Given the description of an element on the screen output the (x, y) to click on. 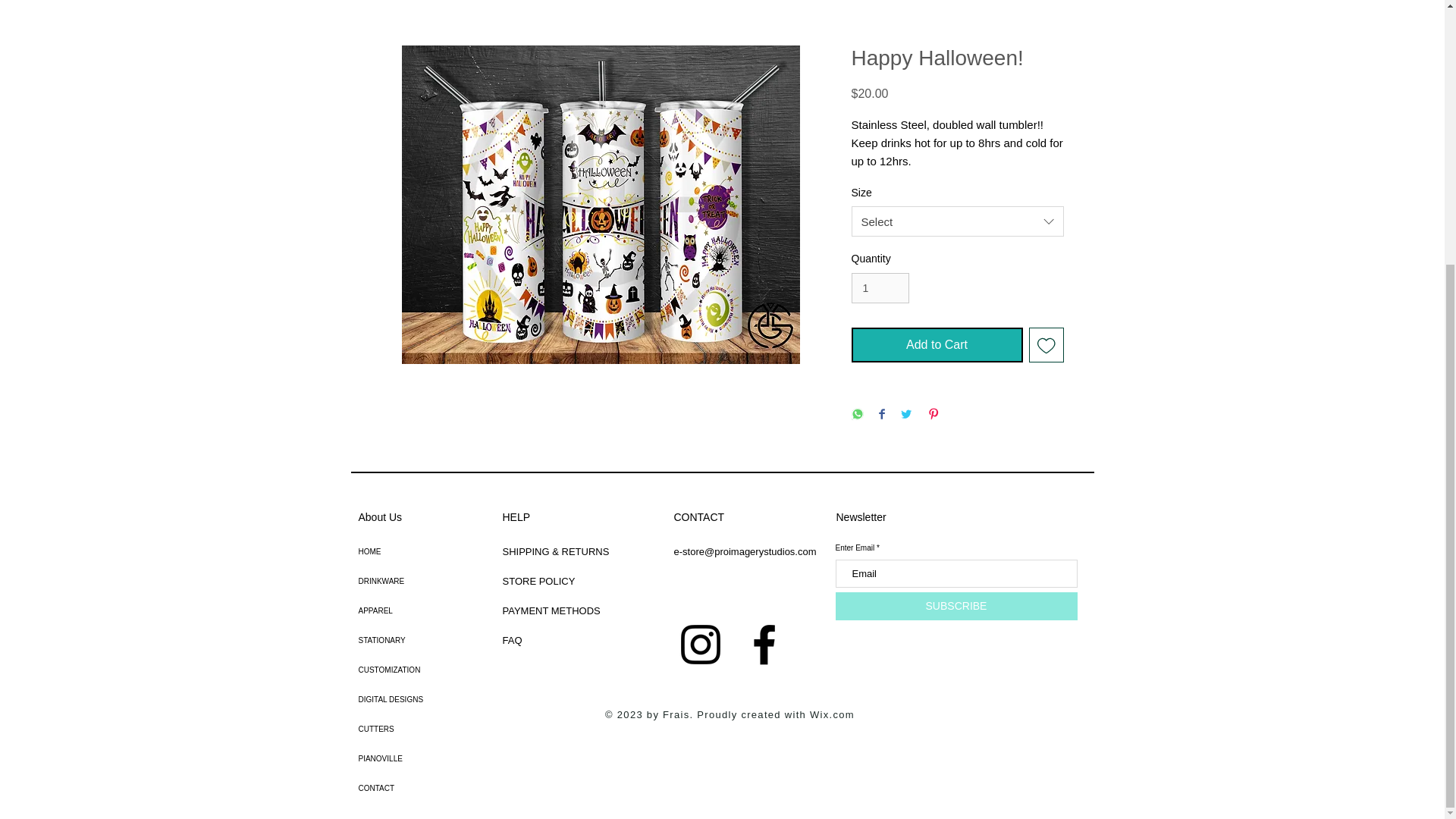
CUSTOMIZATION (410, 669)
DRINKWARE (410, 581)
STORE POLICY  (539, 581)
STATIONARY (410, 640)
DIGITAL DESIGNS (410, 699)
APPAREL (410, 610)
Select (956, 221)
1 (879, 287)
Add to Cart (936, 344)
PAYMENT METHODS (550, 610)
